Given the description of an element on the screen output the (x, y) to click on. 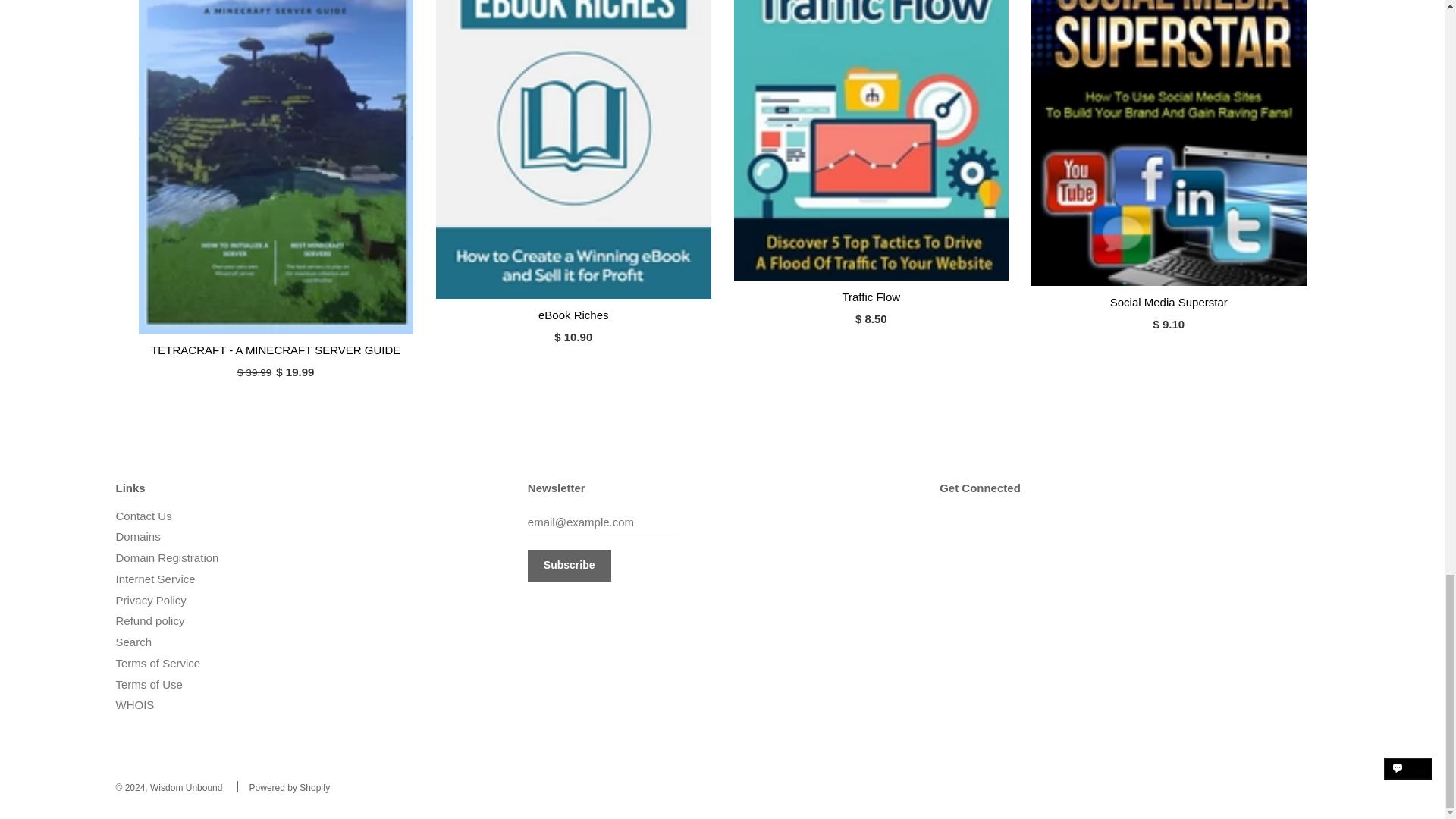
Traffic Flow (870, 296)
Domain Registration (166, 557)
Contact Us (143, 515)
Social Media Superstar (1168, 142)
Domains (137, 535)
eBook Riches (573, 149)
eBook Riches (573, 314)
Traffic Flow (871, 140)
Privacy Policy (150, 599)
TETRACRAFT - A MINECRAFT SERVER GUIDE (275, 349)
